Given the description of an element on the screen output the (x, y) to click on. 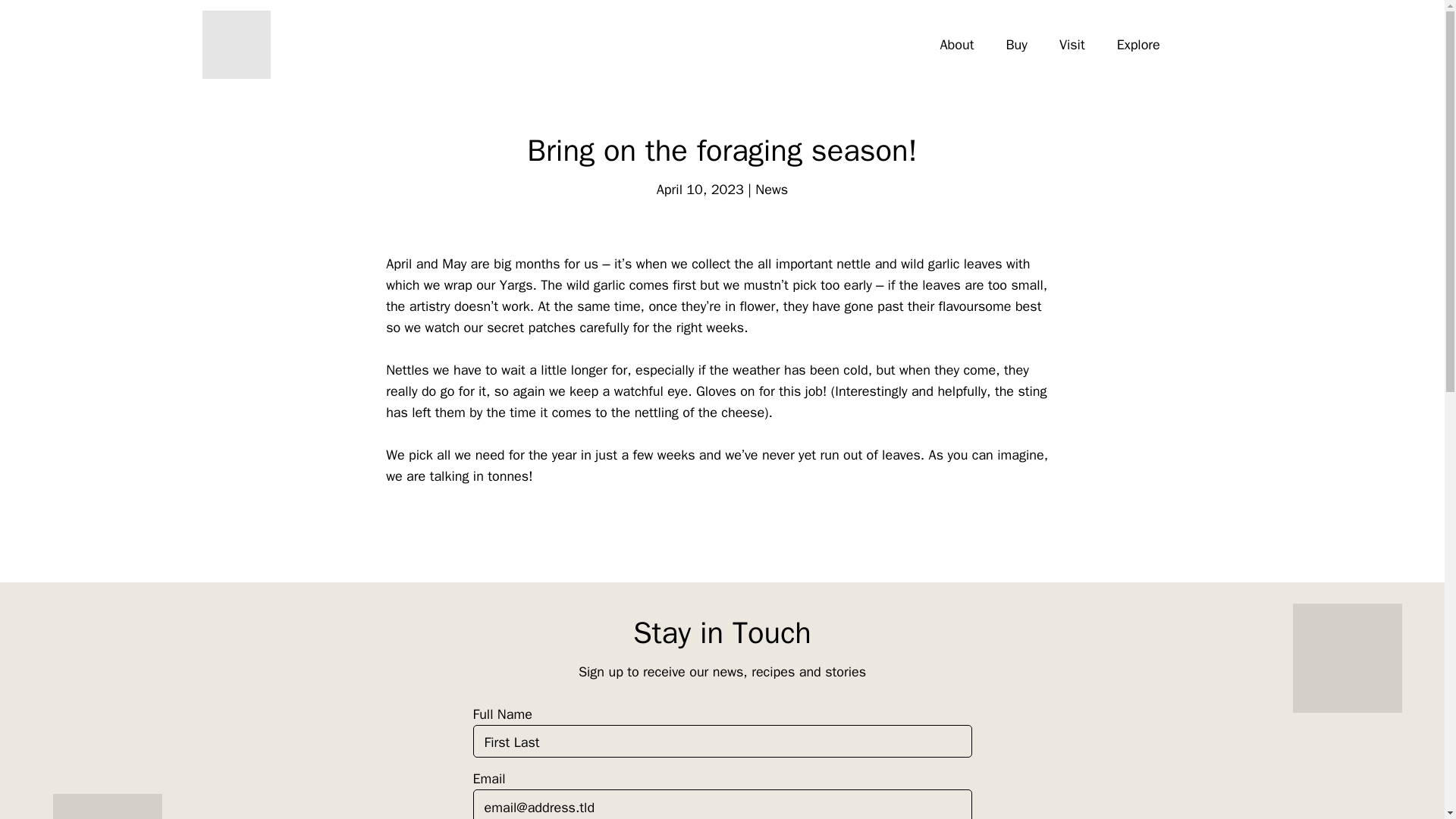
Buy (1015, 44)
Visit (1072, 44)
About (957, 44)
Explore (1138, 44)
